Given the description of an element on the screen output the (x, y) to click on. 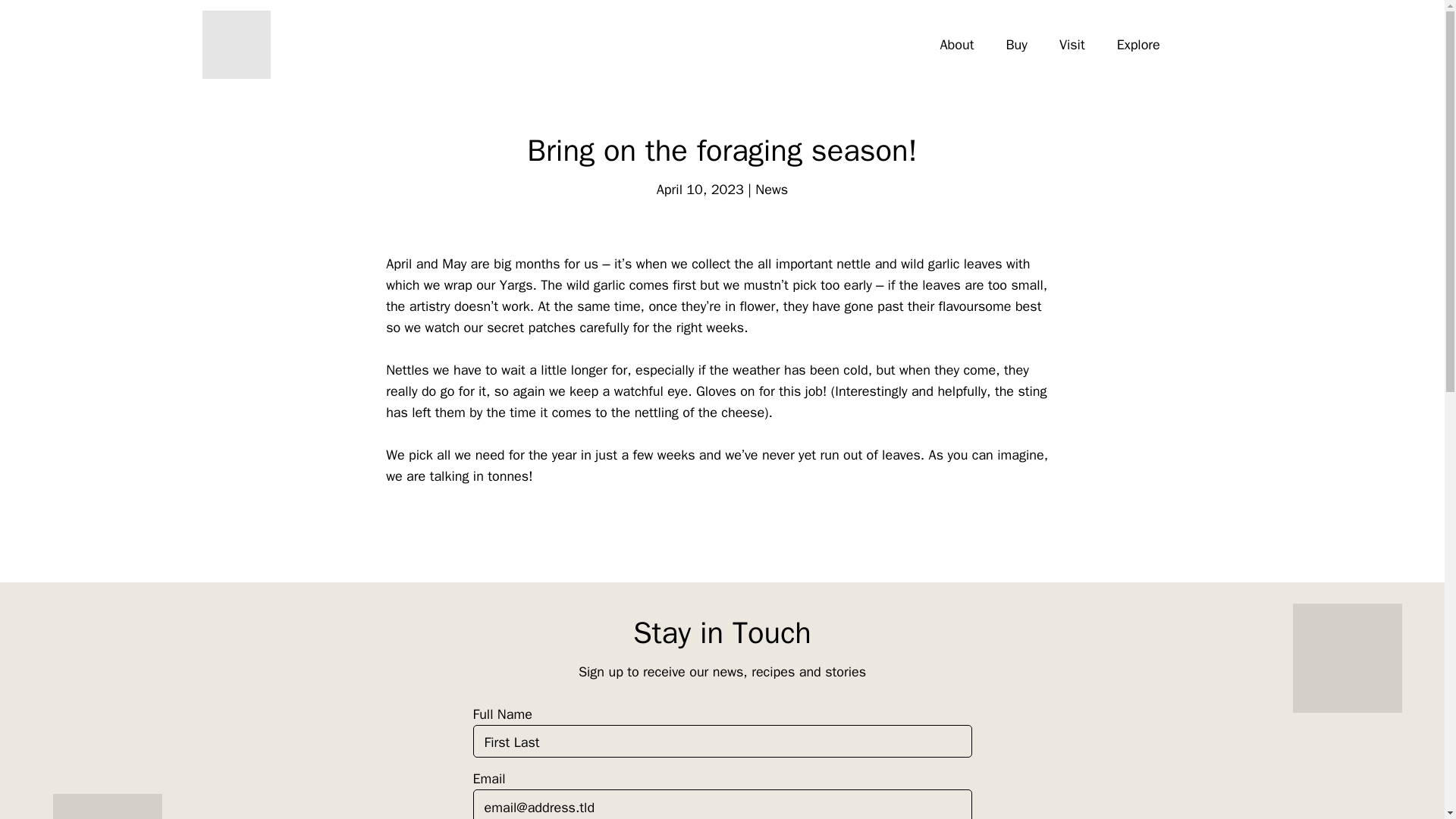
Buy (1015, 44)
Visit (1072, 44)
About (957, 44)
Explore (1138, 44)
